Given the description of an element on the screen output the (x, y) to click on. 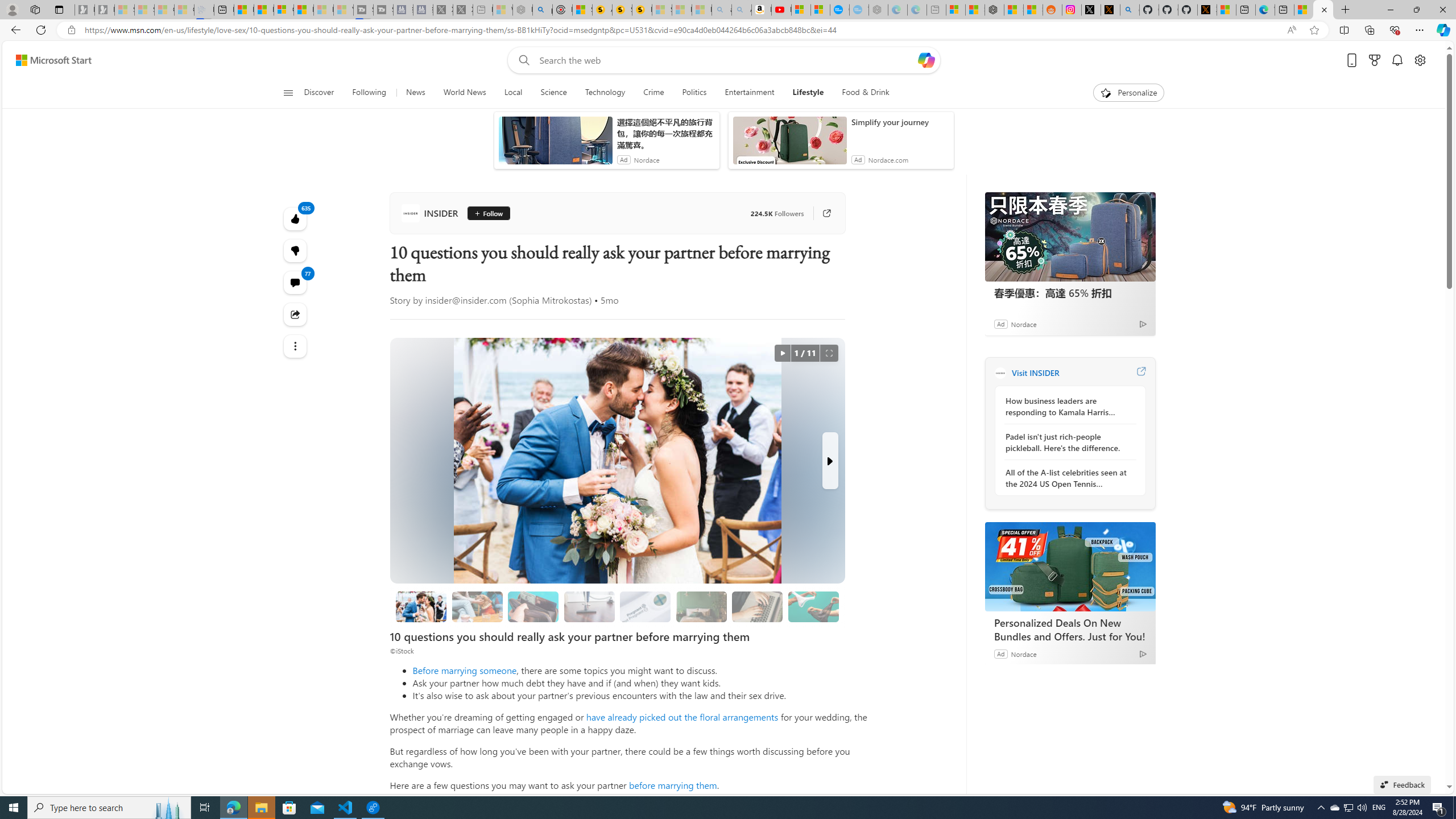
To get missing image descriptions, open the context menu. (1105, 92)
have already picked out the floral arrangements (681, 716)
Shanghai, China Weather trends | Microsoft Weather (1033, 9)
Do you want kids? If so, when? (645, 606)
